Given the description of an element on the screen output the (x, y) to click on. 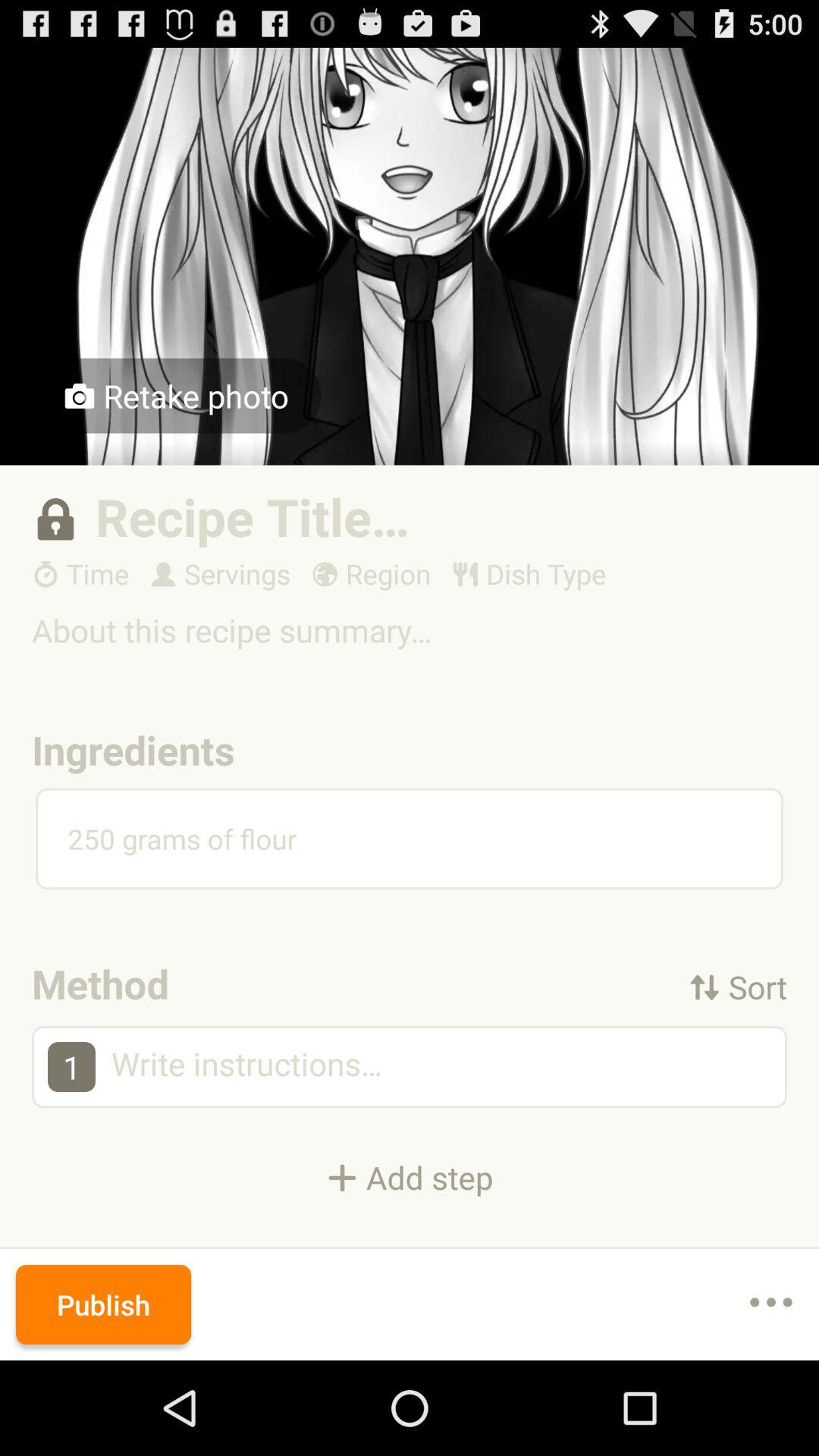
select the icon below 250 grams of (737, 986)
